Given the description of an element on the screen output the (x, y) to click on. 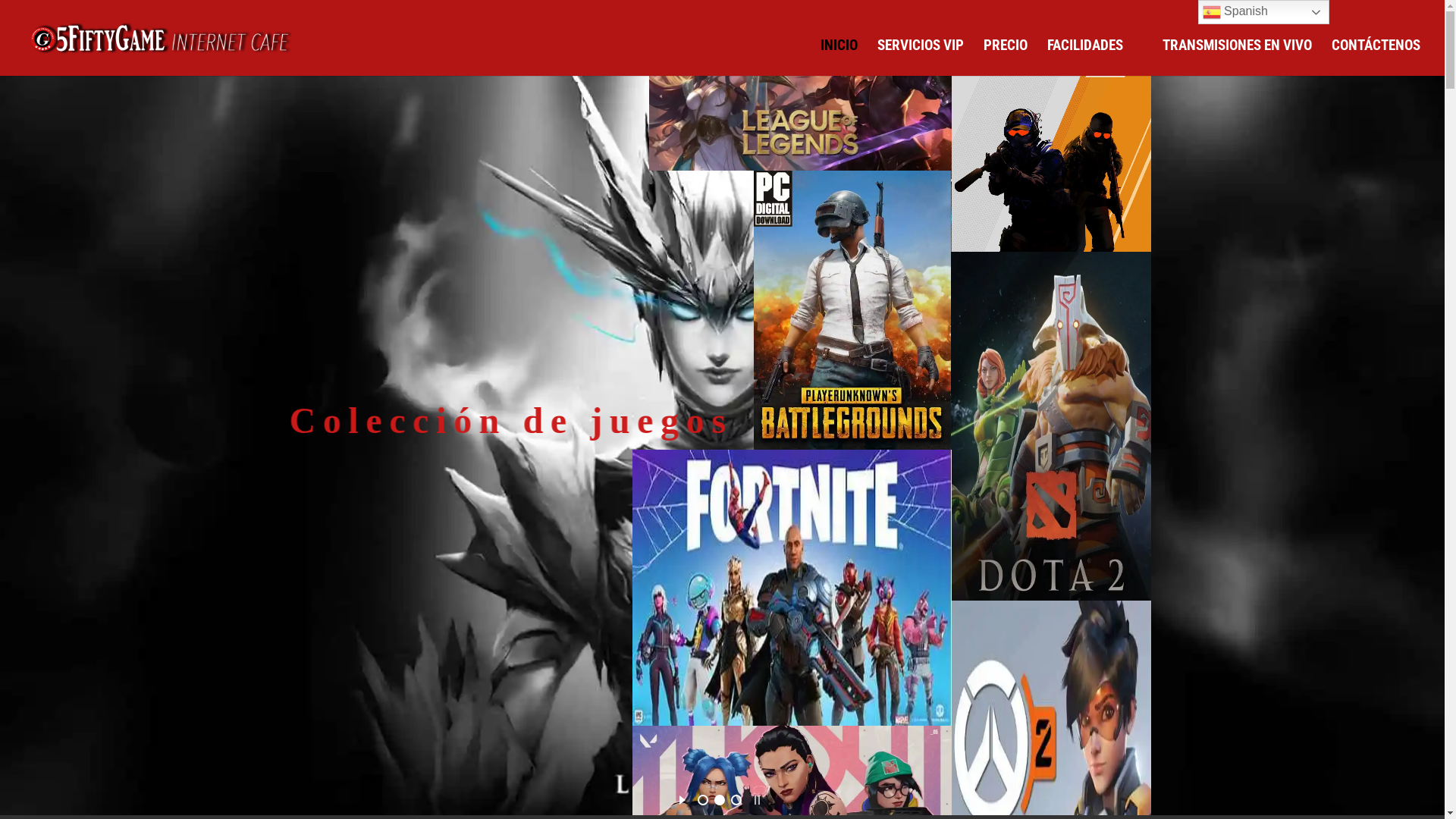
Spanish Element type: text (1263, 12)
FACILIDADES Element type: text (1085, 57)
INICIO Element type: text (838, 57)
PRECIO Element type: text (1005, 57)
SERVICIOS VIP Element type: text (920, 57)
TRANSMISIONES EN VIVO Element type: text (1236, 57)
